Given the description of an element on the screen output the (x, y) to click on. 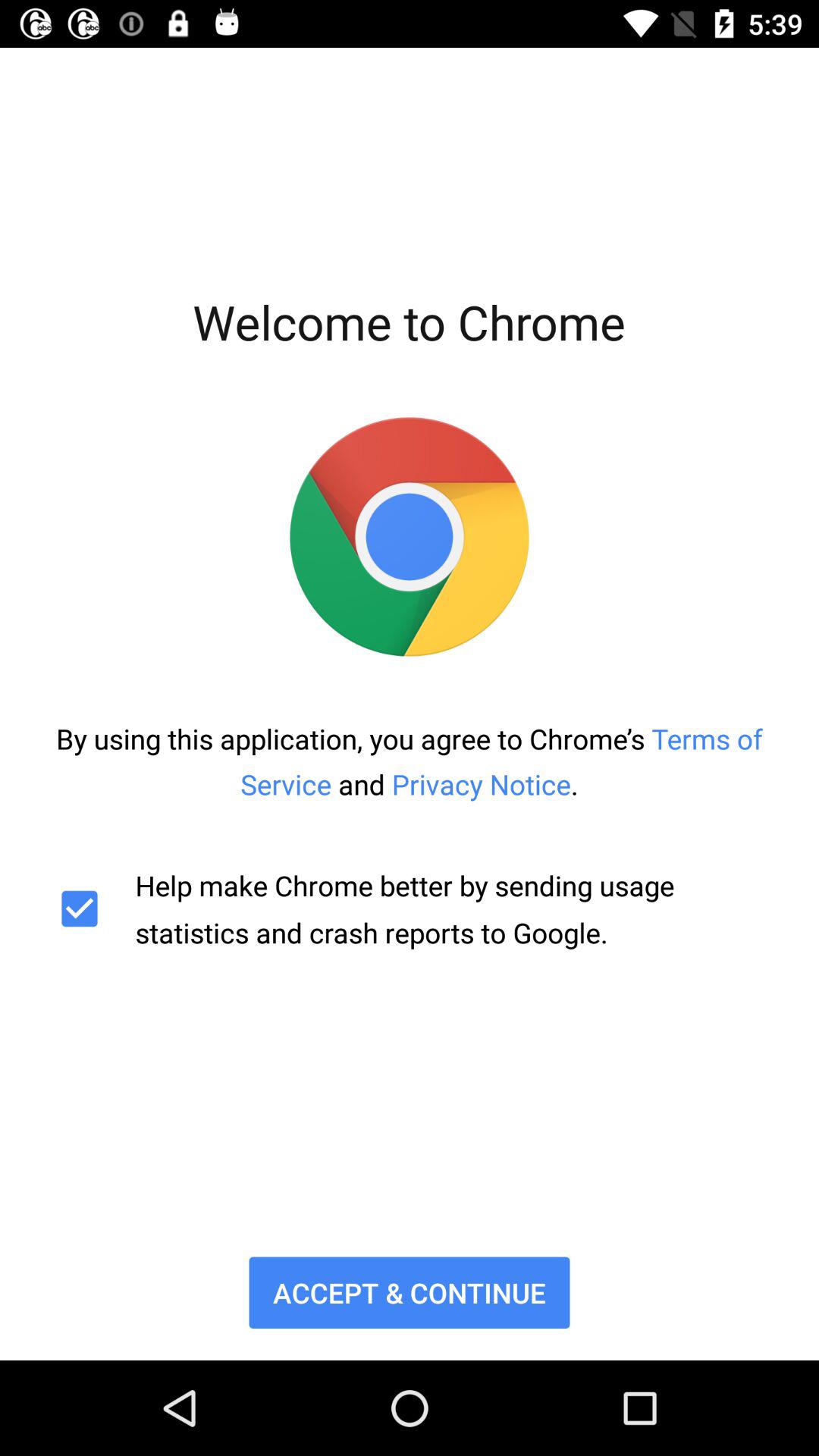
jump to the help make chrome icon (409, 908)
